Given the description of an element on the screen output the (x, y) to click on. 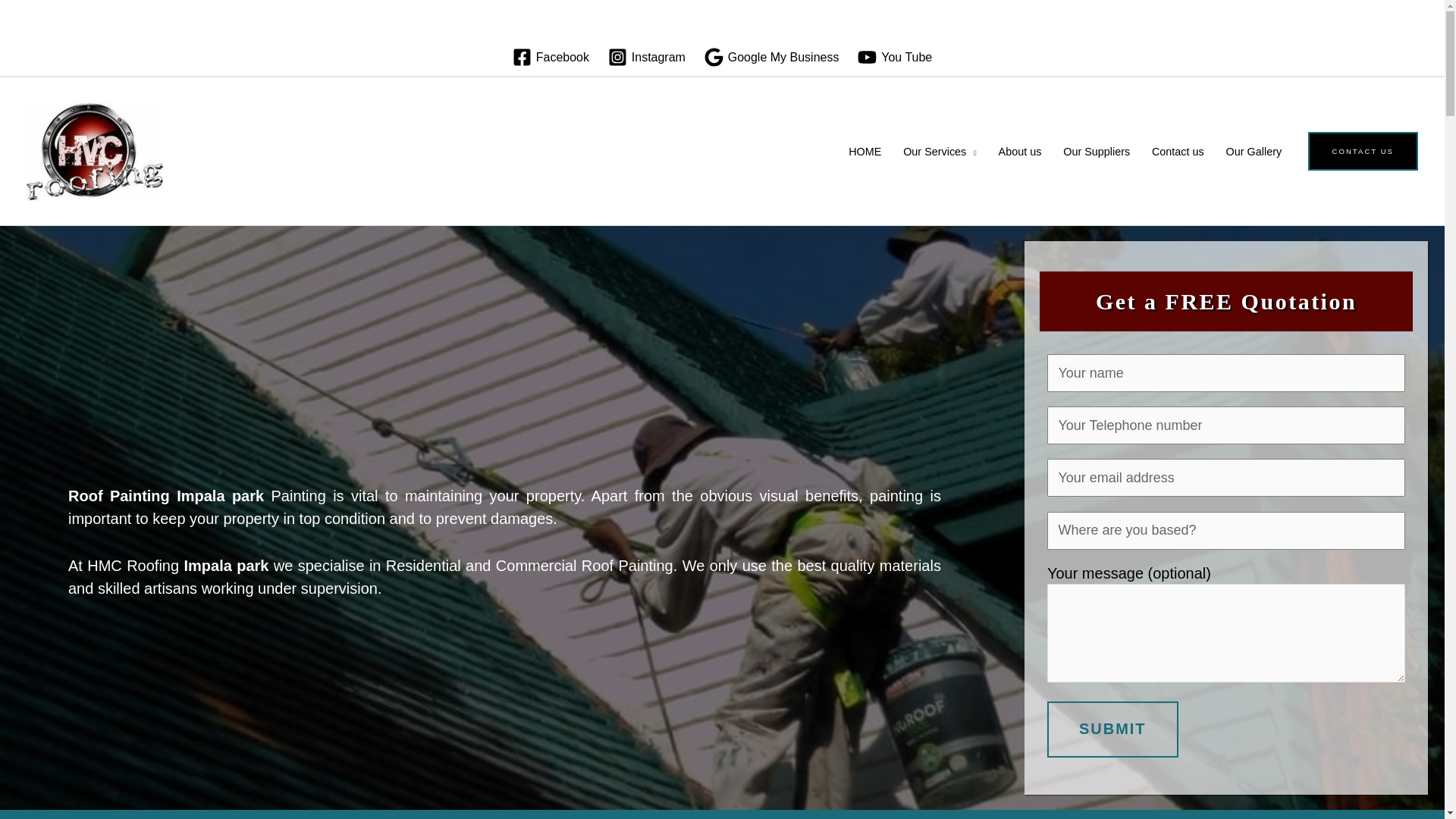
Your Telephone number (1225, 425)
HOME (865, 150)
Google My Business (771, 56)
Your name (1225, 372)
Your email address (1225, 477)
Where are you based? (1225, 530)
You Tube (895, 56)
Instagram (646, 56)
Our Services (939, 150)
Submit (1111, 728)
Facebook (550, 56)
